Given the description of an element on the screen output the (x, y) to click on. 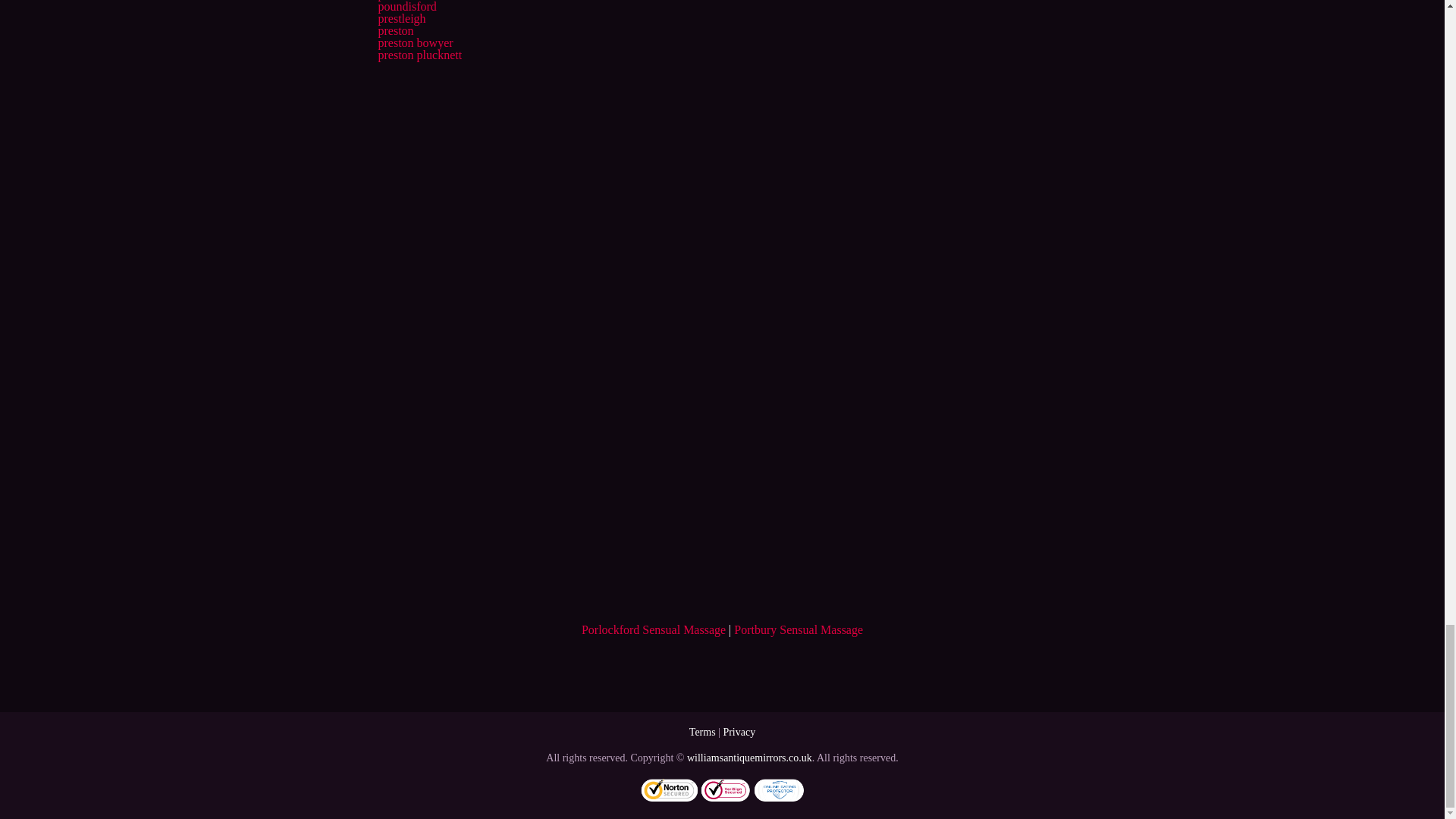
poundisford (406, 6)
prestleigh (401, 18)
Terms (702, 731)
Portbury Sensual Massage (798, 629)
Privacy (738, 731)
williamsantiquemirrors.co.uk (749, 757)
preston (395, 30)
preston plucknett (419, 54)
Porlockford Sensual Massage (652, 629)
Terms (702, 731)
Privacy (738, 731)
preston bowyer (414, 42)
potters hill (403, 0)
